Given the description of an element on the screen output the (x, y) to click on. 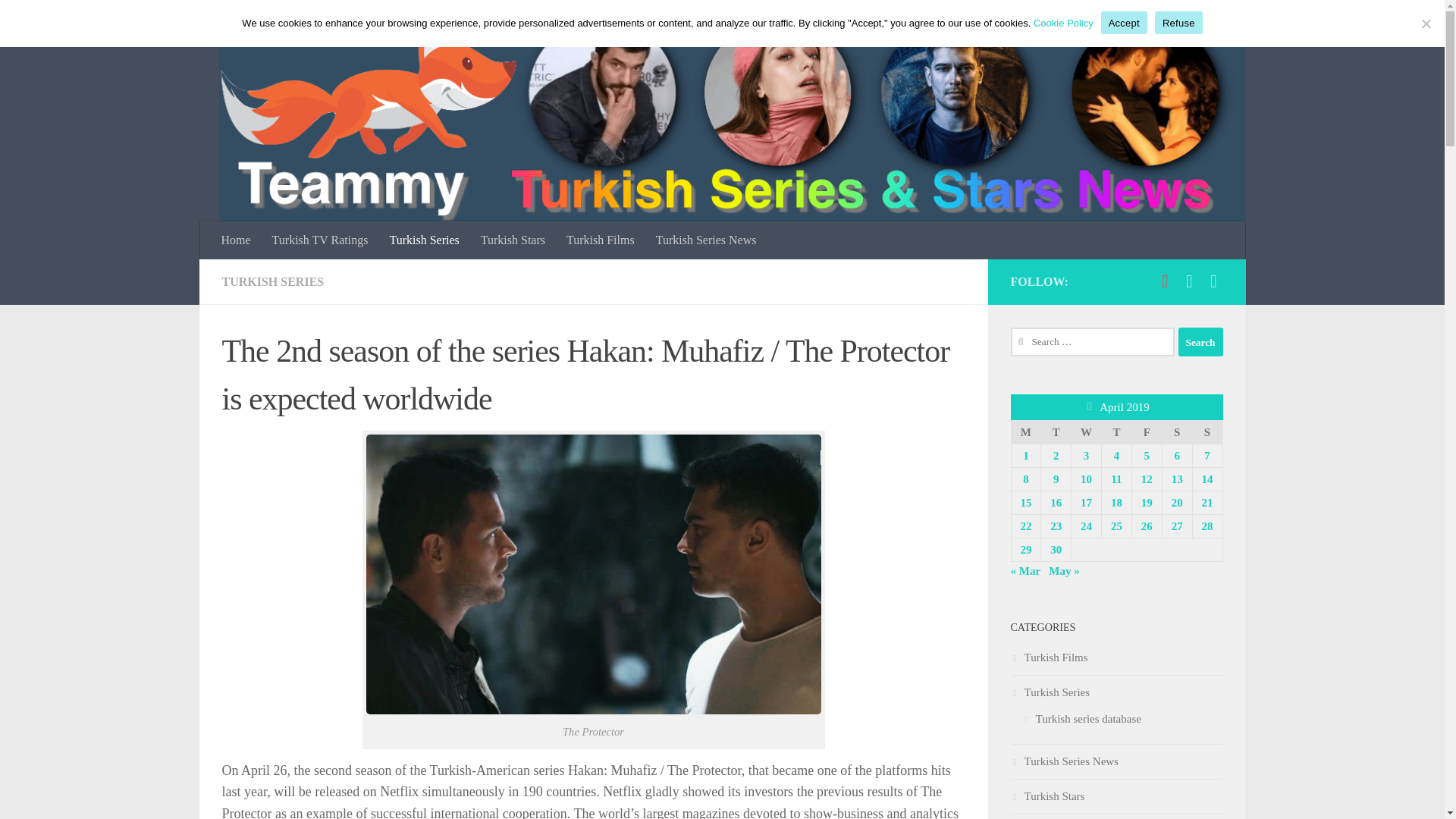
Turkish Series (423, 240)
Turkish Series News (706, 240)
Skip to content (59, 20)
Home (236, 240)
Turkish Stars (513, 240)
Turkish Films (600, 240)
Search (1200, 341)
Search (1200, 341)
TURKISH SERIES (272, 281)
Follow us on Youtube (1164, 280)
Turkish TV Ratings (320, 240)
